Given the description of an element on the screen output the (x, y) to click on. 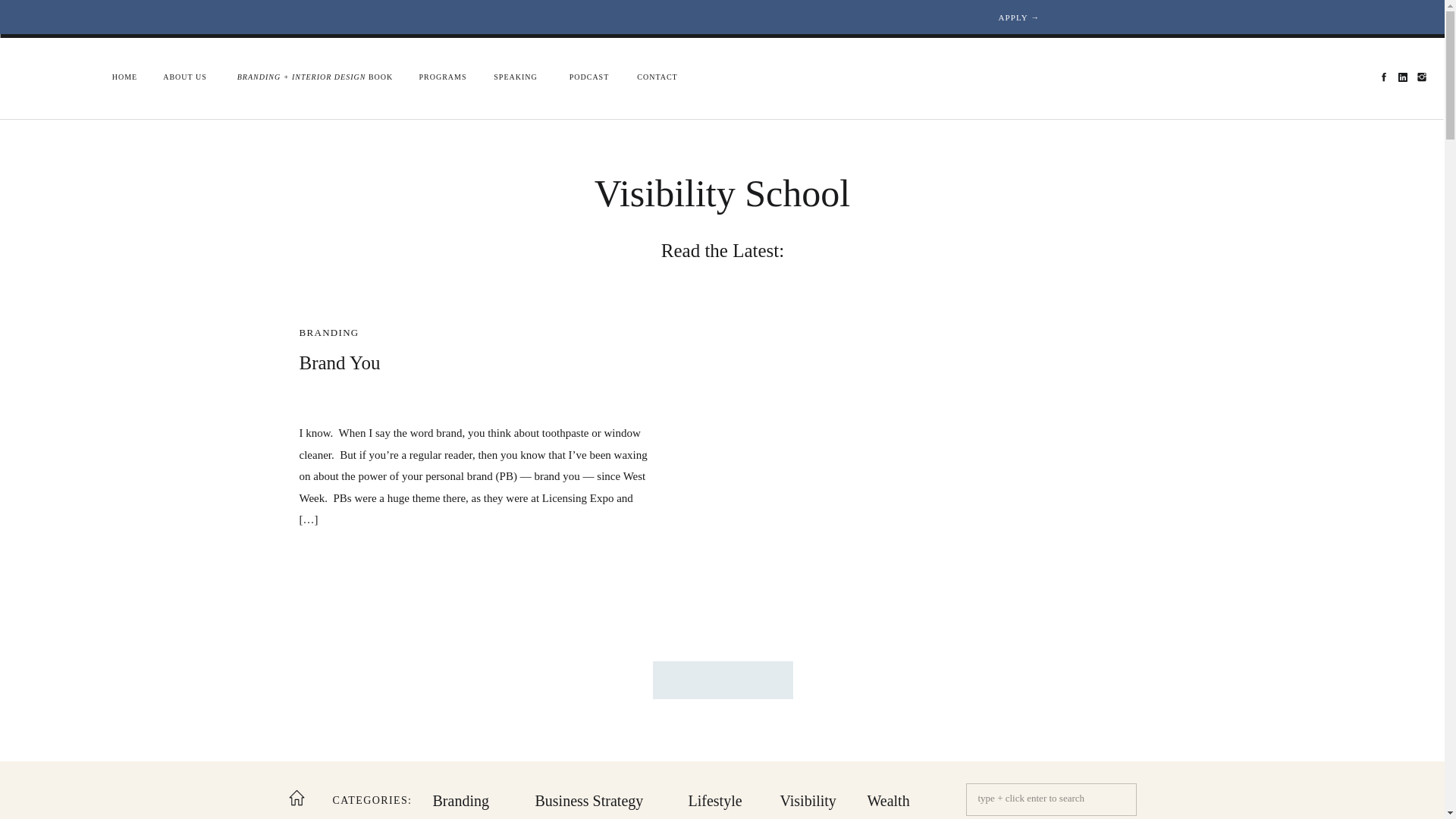
PROGRAMS (442, 77)
ABOUT US (185, 77)
HOME (125, 77)
SPEAKING (515, 77)
CONTACT (656, 77)
PODCAST (588, 77)
